Given the description of an element on the screen output the (x, y) to click on. 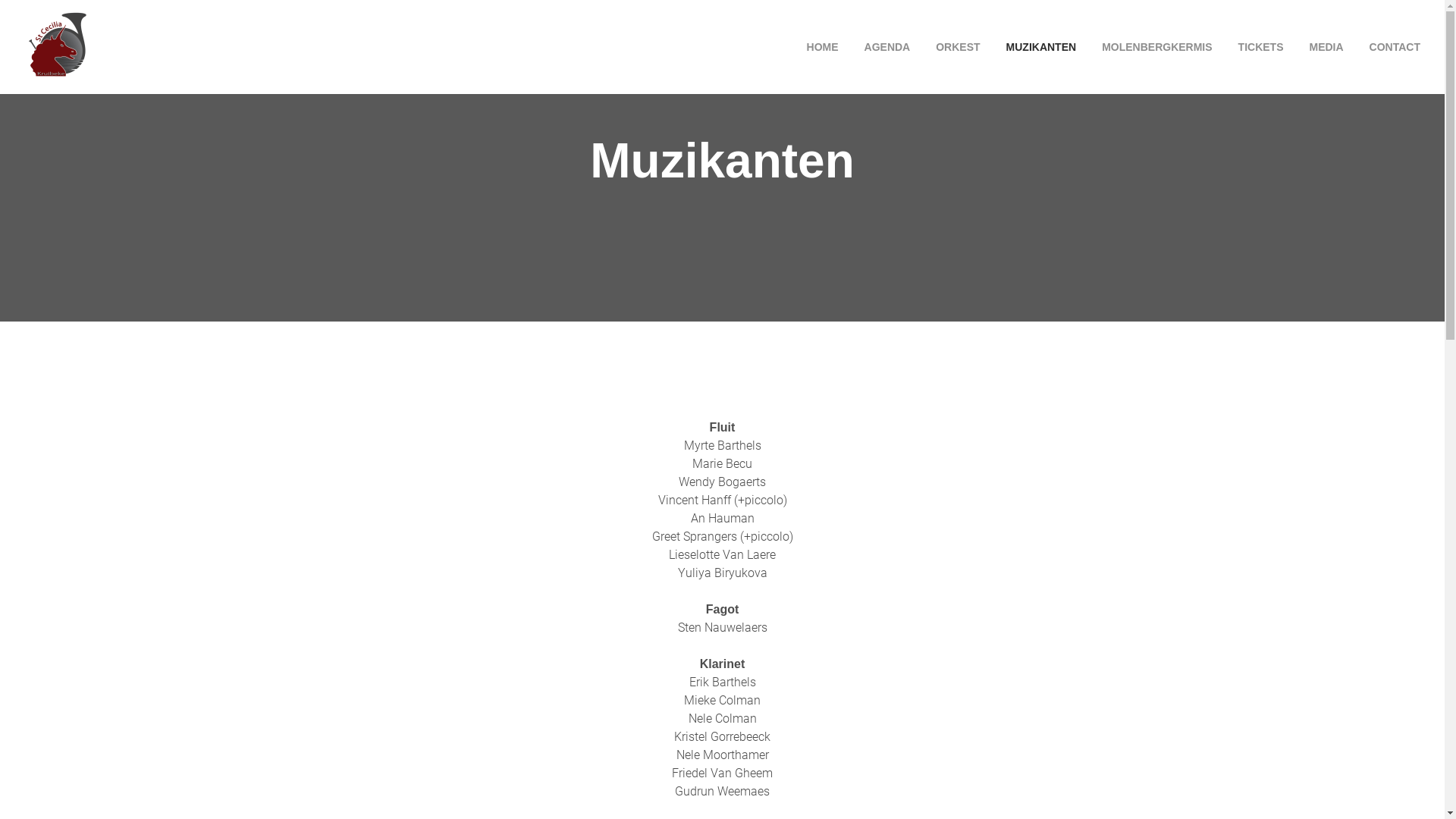
HOME Element type: text (817, 46)
TICKETS Element type: text (1260, 46)
MEDIA Element type: text (1325, 46)
MOLENBERGKERMIS Element type: text (1156, 46)
ORKEST Element type: text (957, 46)
CONTACT Element type: text (1389, 46)
MUZIKANTEN Element type: text (1041, 46)
AGENDA Element type: text (887, 46)
